Given the description of an element on the screen output the (x, y) to click on. 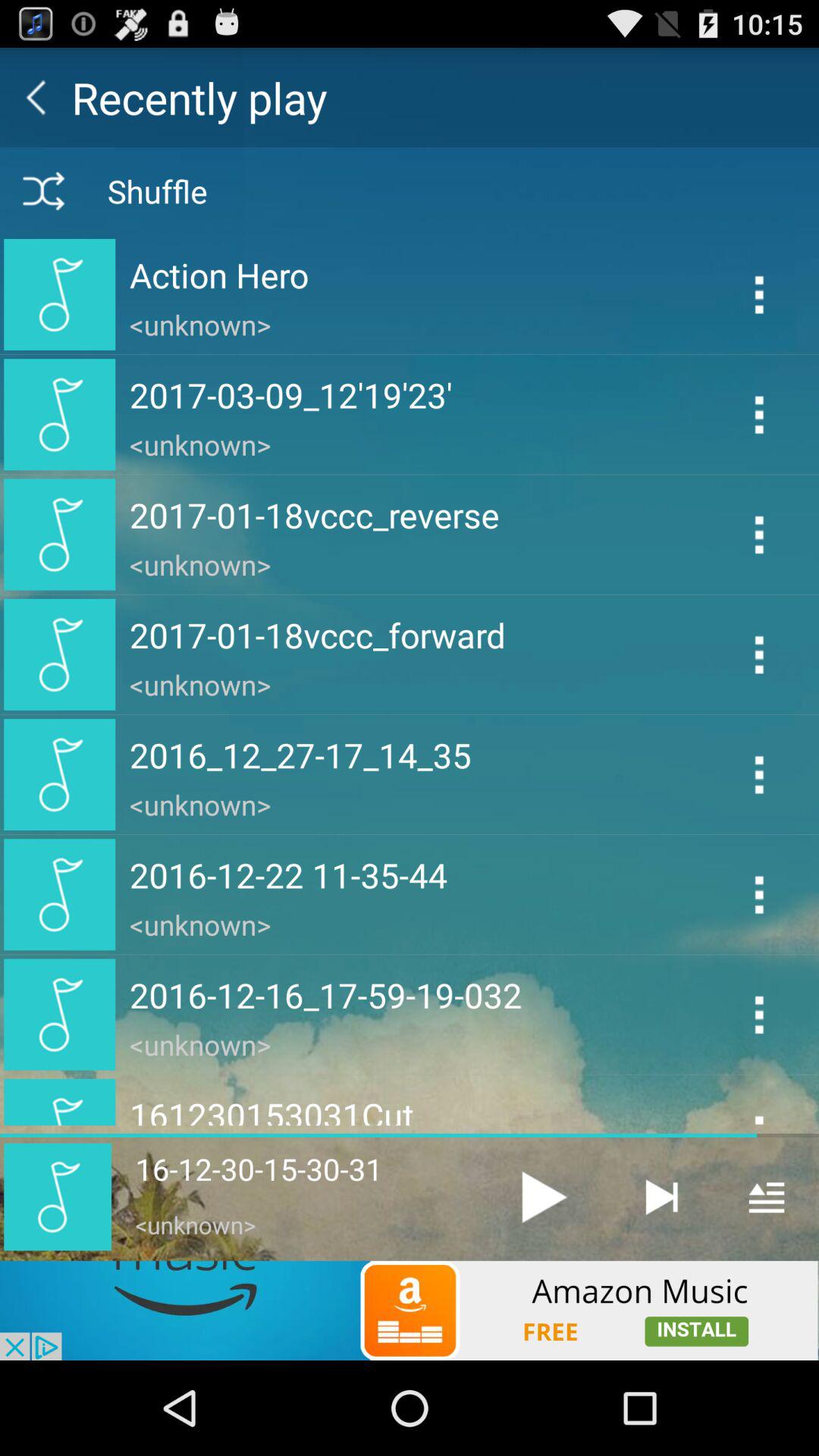
install amazon music (409, 1310)
